Given the description of an element on the screen output the (x, y) to click on. 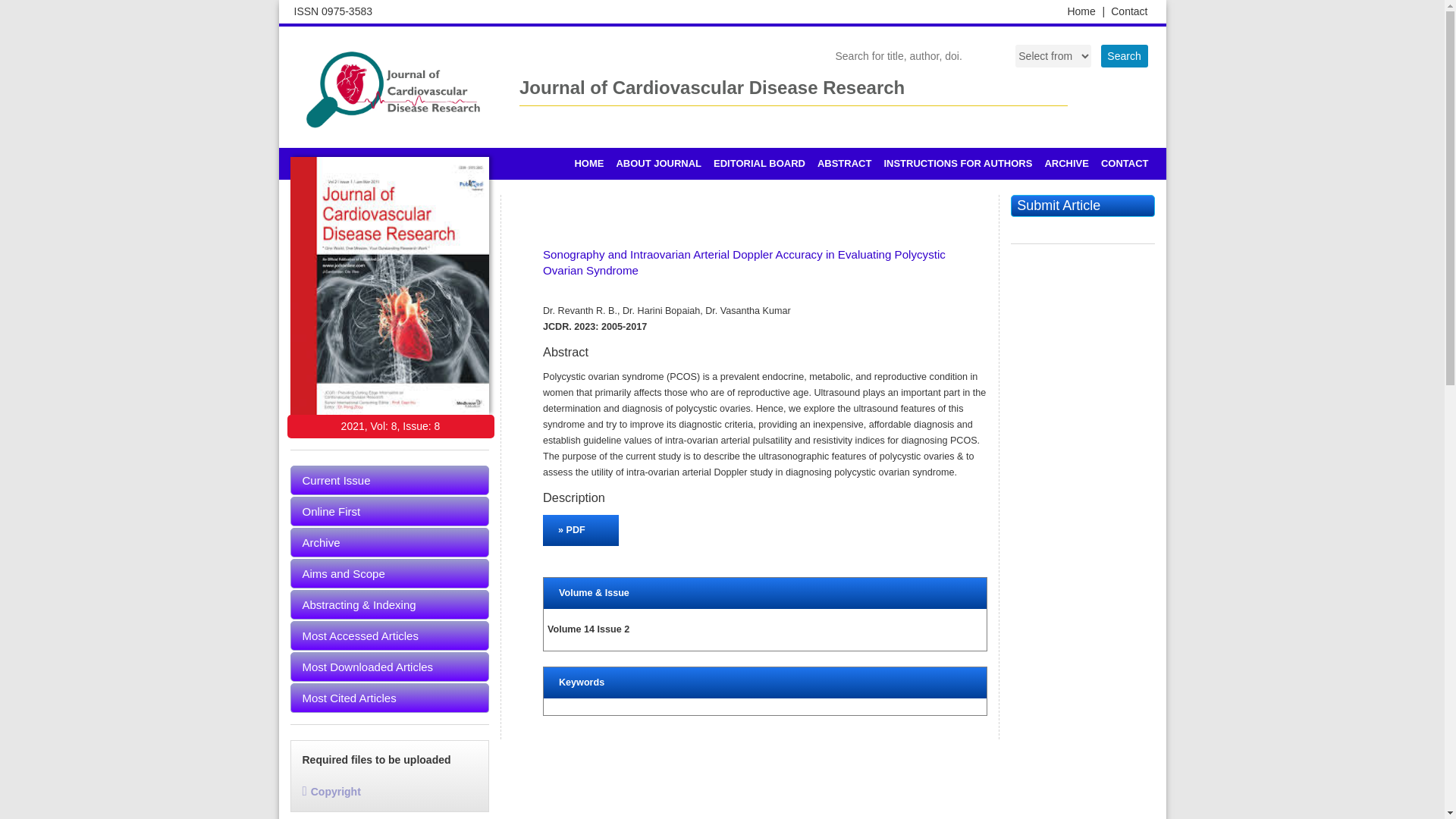
ABOUT JOURNAL (658, 163)
Most Downloaded Articles (389, 666)
ABSTRACT (843, 163)
Search (1124, 56)
Search (1124, 56)
ARCHIVE (1066, 163)
Archive (389, 542)
Aims and Scope (389, 573)
Contact (1129, 11)
Submit Article (1082, 205)
HOME (588, 163)
EDITORIAL BOARD (758, 163)
Search (1124, 56)
Online First (389, 511)
Current Issue (389, 480)
